Given the description of an element on the screen output the (x, y) to click on. 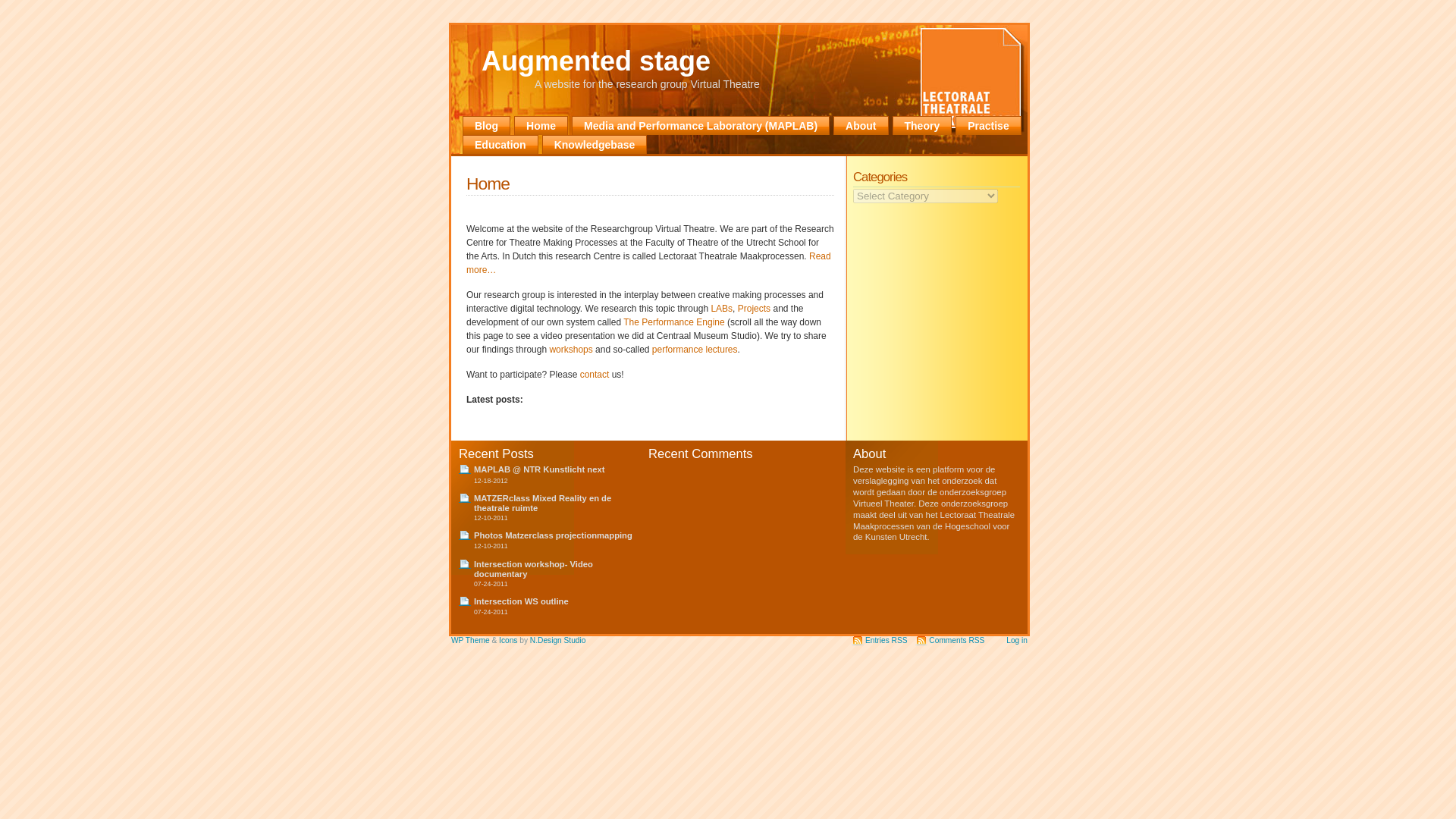
Education (500, 144)
WP Theme (470, 640)
blog (487, 125)
Permanent link to Intersection WS outline (521, 601)
N.Design Studio (557, 640)
Projects (755, 308)
Intersection WS outline (521, 601)
Blog (487, 125)
contact (595, 374)
workshops (571, 348)
About (860, 125)
LABs (721, 308)
Icons (507, 640)
Photos Matzerclass projectionmapping (552, 534)
Practise (987, 125)
